Given the description of an element on the screen output the (x, y) to click on. 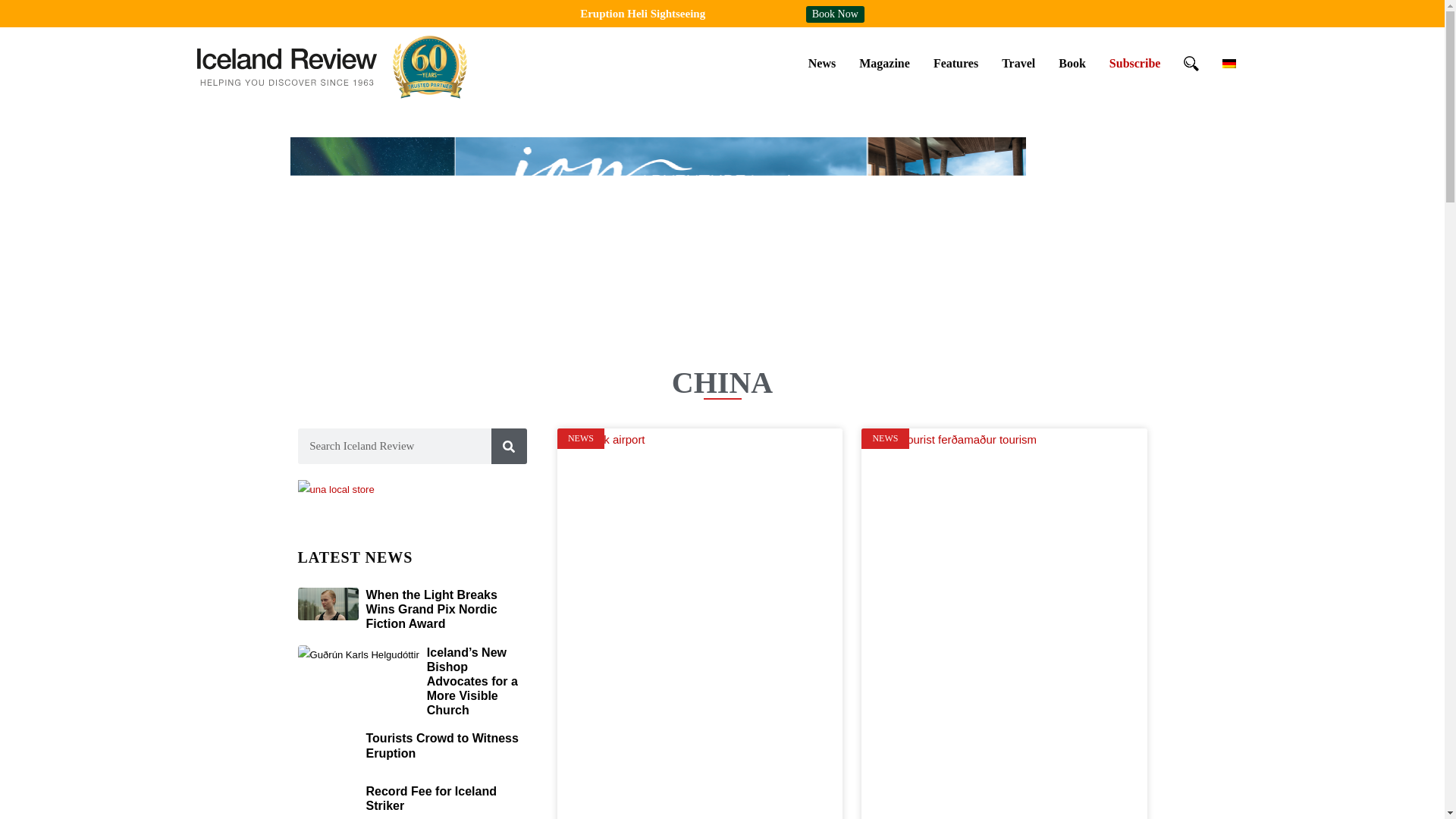
News (821, 63)
Subscribe (1134, 63)
Features (955, 63)
Magazine (884, 63)
Book (1071, 63)
Tourists Crowd to Witness Eruption (441, 745)
Record Fee for Iceland Striker (430, 798)
Book Now (835, 13)
When the Light Breaks Wins Grand Pix Nordic Fiction Award (430, 608)
Travel (1018, 63)
